Given the description of an element on the screen output the (x, y) to click on. 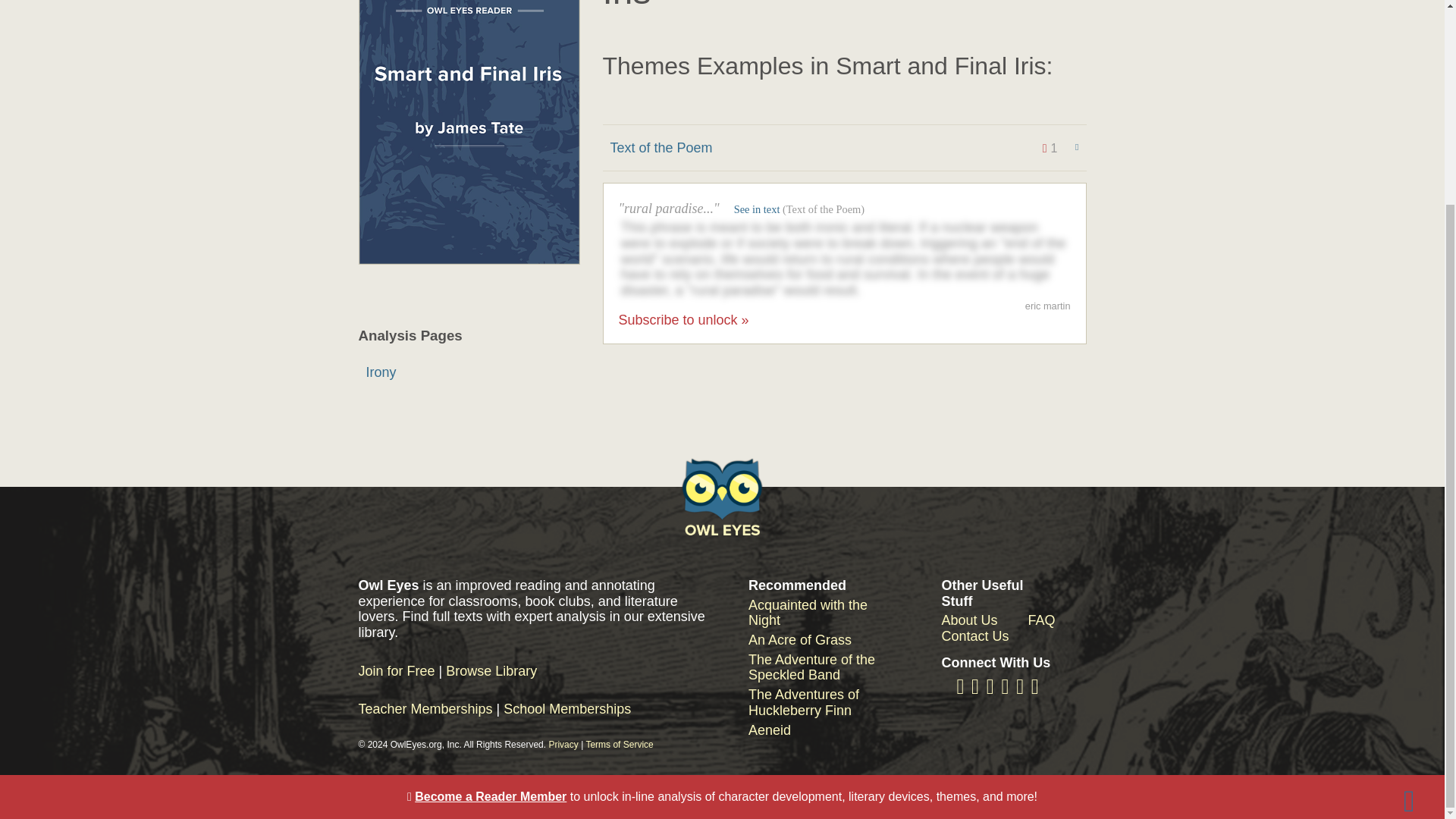
Smart and Final Iris Irony (468, 372)
